Given the description of an element on the screen output the (x, y) to click on. 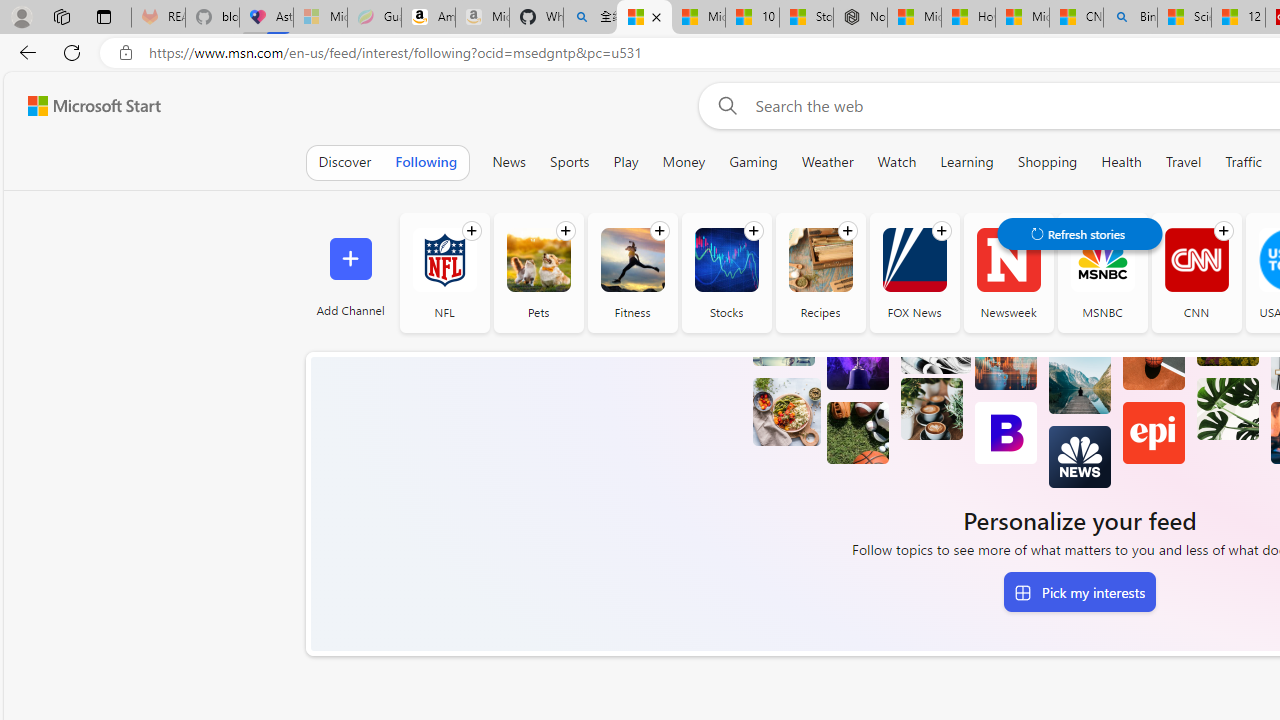
Pets (537, 260)
Gaming (752, 162)
Gaming (753, 161)
Travel (1183, 162)
Bing (1130, 17)
Travel (1183, 161)
Class: control (1079, 233)
Pick my interests (1079, 591)
CNN (1195, 260)
